Given the description of an element on the screen output the (x, y) to click on. 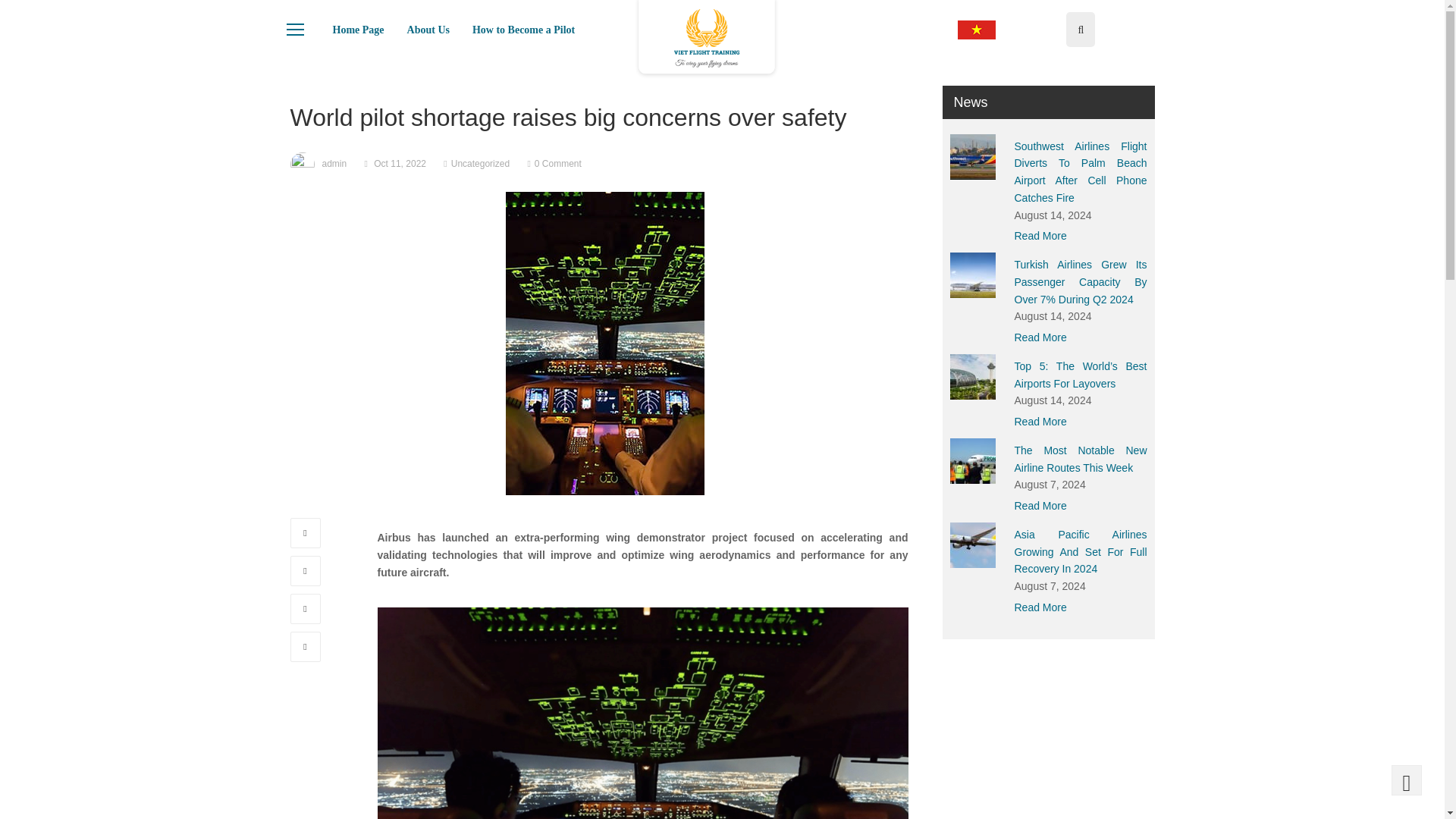
Facebook (304, 532)
0 Comment (557, 163)
Home Page (358, 29)
Oct 11, 2022 (400, 163)
Read More (1080, 506)
How to Become a Pilot (523, 29)
The Most Notable New Airline Routes This Week (1080, 459)
About Us (428, 29)
Read More (1080, 235)
